Given the description of an element on the screen output the (x, y) to click on. 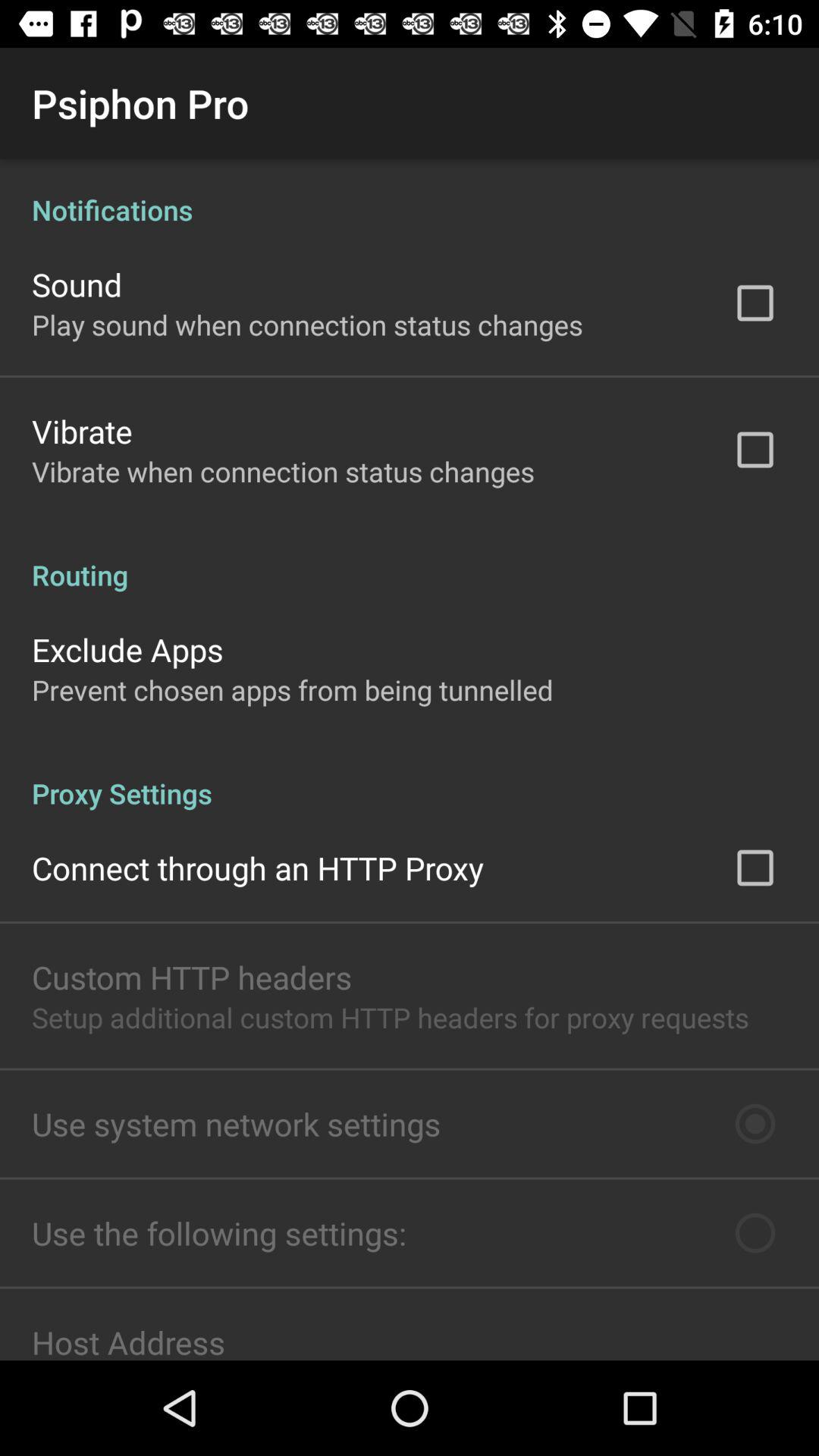
flip until setup additional custom item (390, 1017)
